Given the description of an element on the screen output the (x, y) to click on. 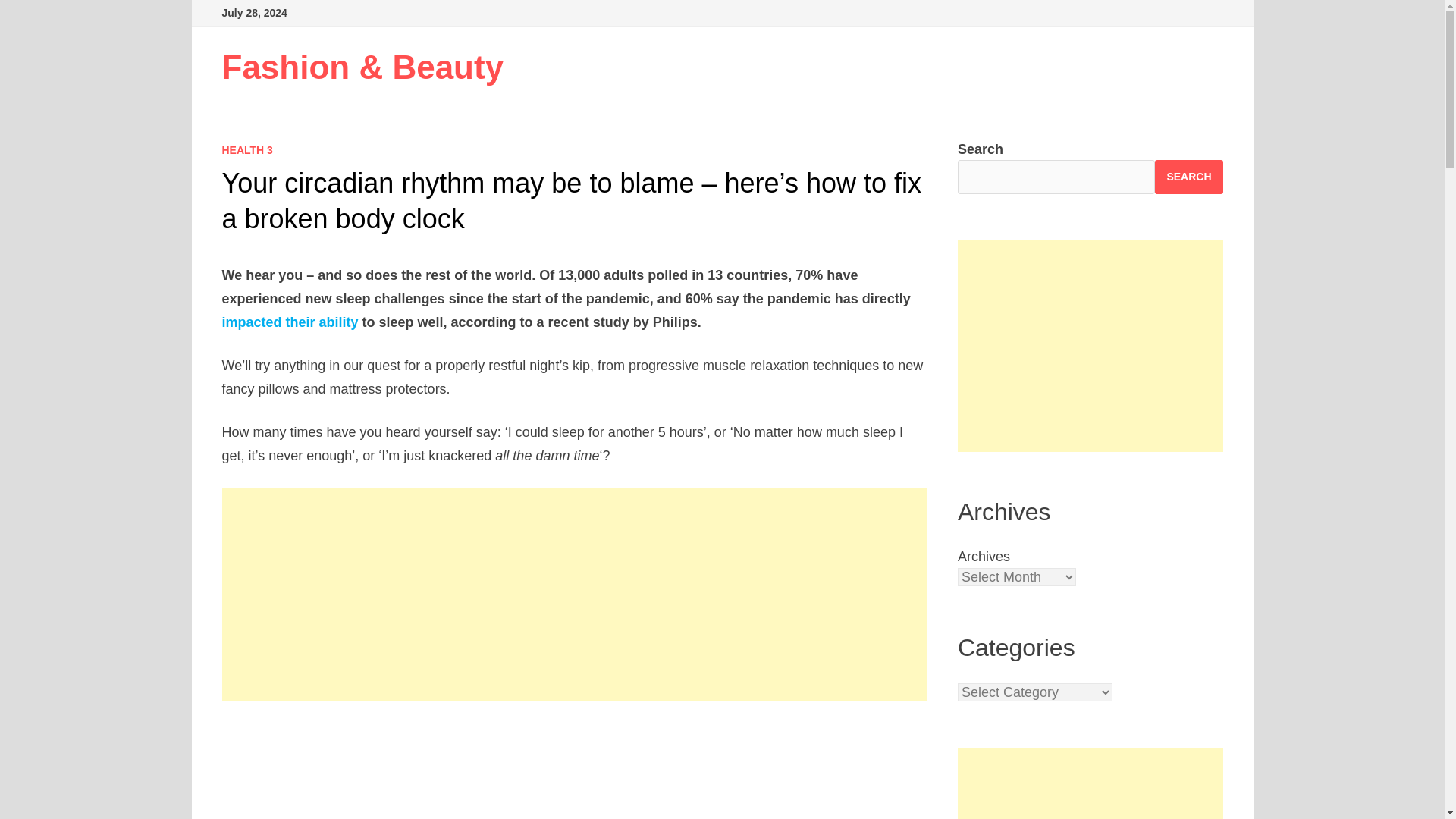
SEARCH (1188, 176)
HEALTH 3 (246, 150)
impacted their ability (289, 322)
